Given the description of an element on the screen output the (x, y) to click on. 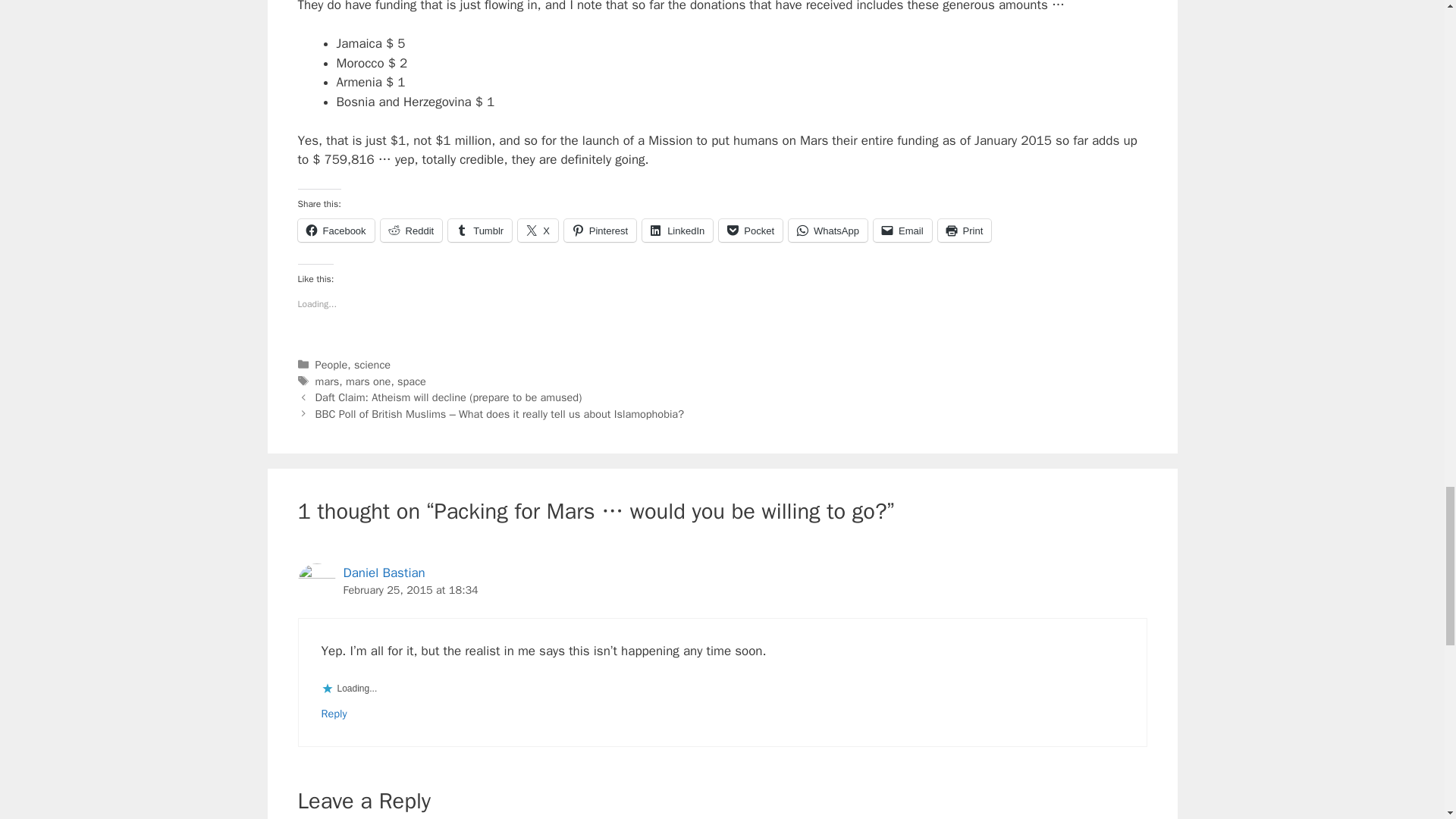
Click to print (964, 230)
Tumblr (480, 230)
Click to share on Tumblr (480, 230)
Click to share on LinkedIn (677, 230)
Click to share on Pocket (751, 230)
Click to share on X (537, 230)
Click to share on Facebook (335, 230)
Click to email a link to a friend (902, 230)
Click to share on Pinterest (600, 230)
Click to share on Reddit (411, 230)
Reddit (411, 230)
Facebook (335, 230)
Click to share on WhatsApp (828, 230)
